Given the description of an element on the screen output the (x, y) to click on. 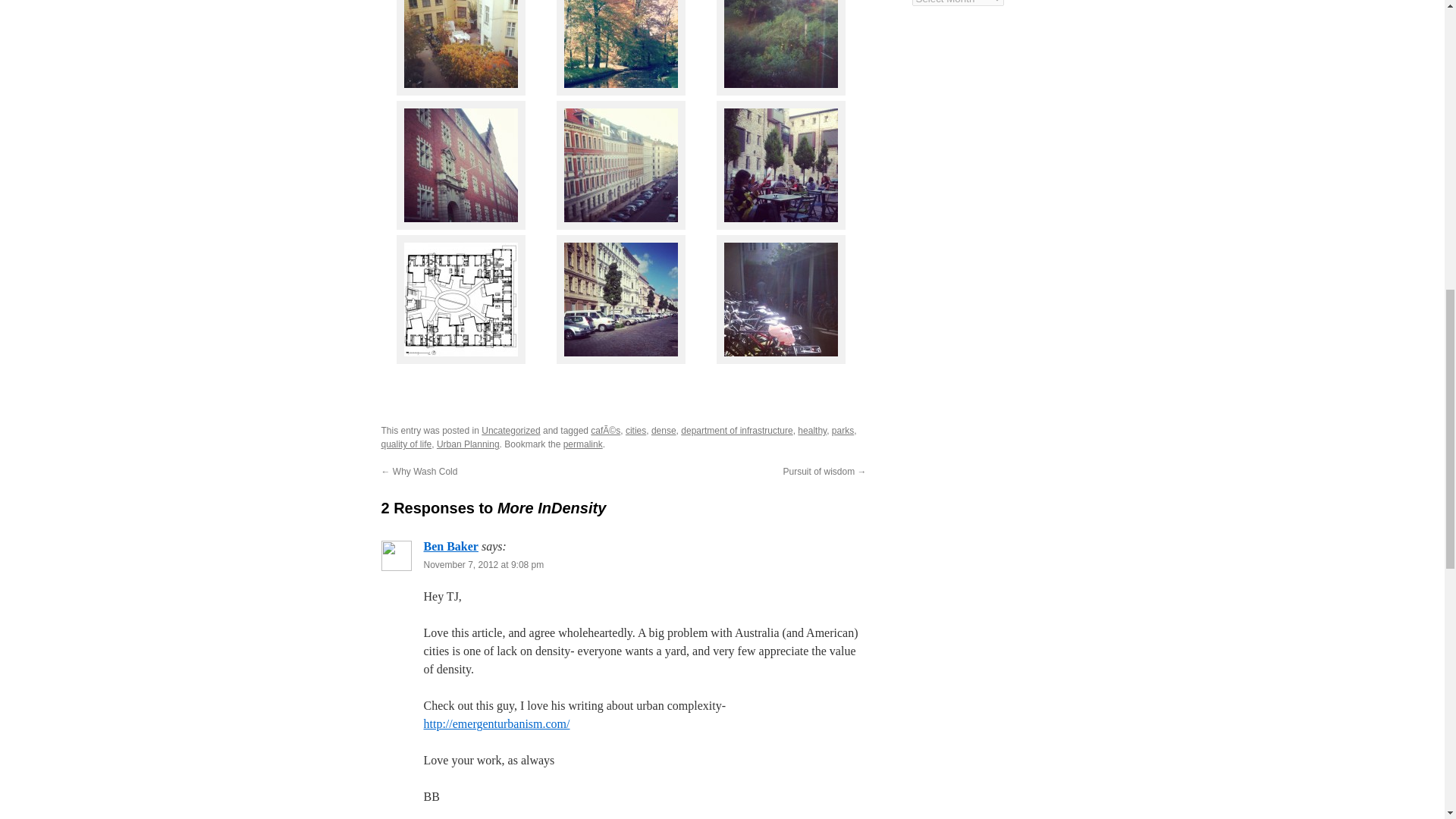
dense (663, 430)
Permalink to More InDensity (582, 443)
healthy (812, 430)
parks (842, 430)
Uncategorized (510, 430)
quality of life (405, 443)
cities (636, 430)
Ben Baker (450, 545)
permalink (582, 443)
department of infrastructure (736, 430)
November 7, 2012 at 9:08 pm (483, 564)
Urban Planning (467, 443)
